Given the description of an element on the screen output the (x, y) to click on. 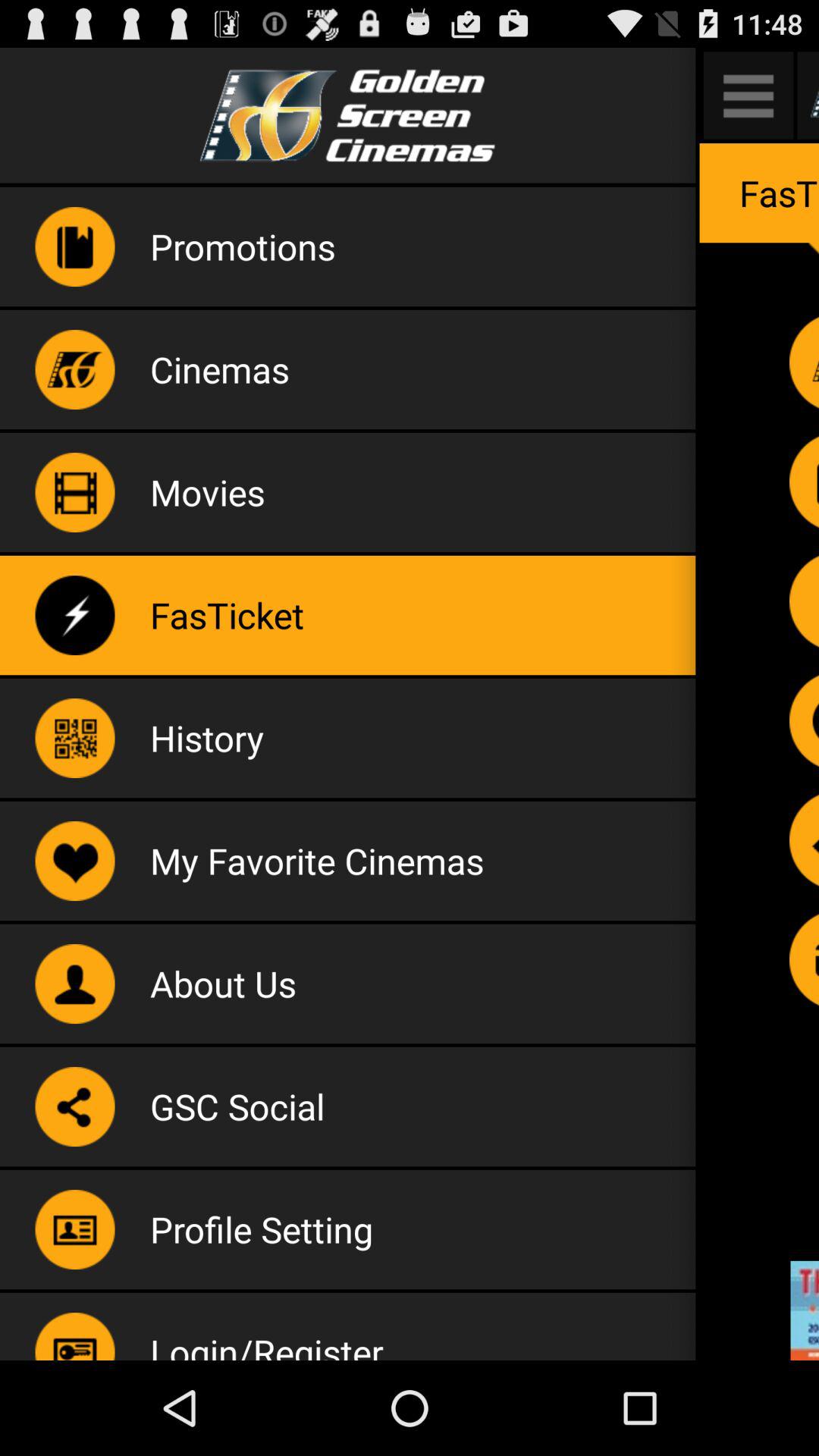
clicking option (804, 720)
